Given the description of an element on the screen output the (x, y) to click on. 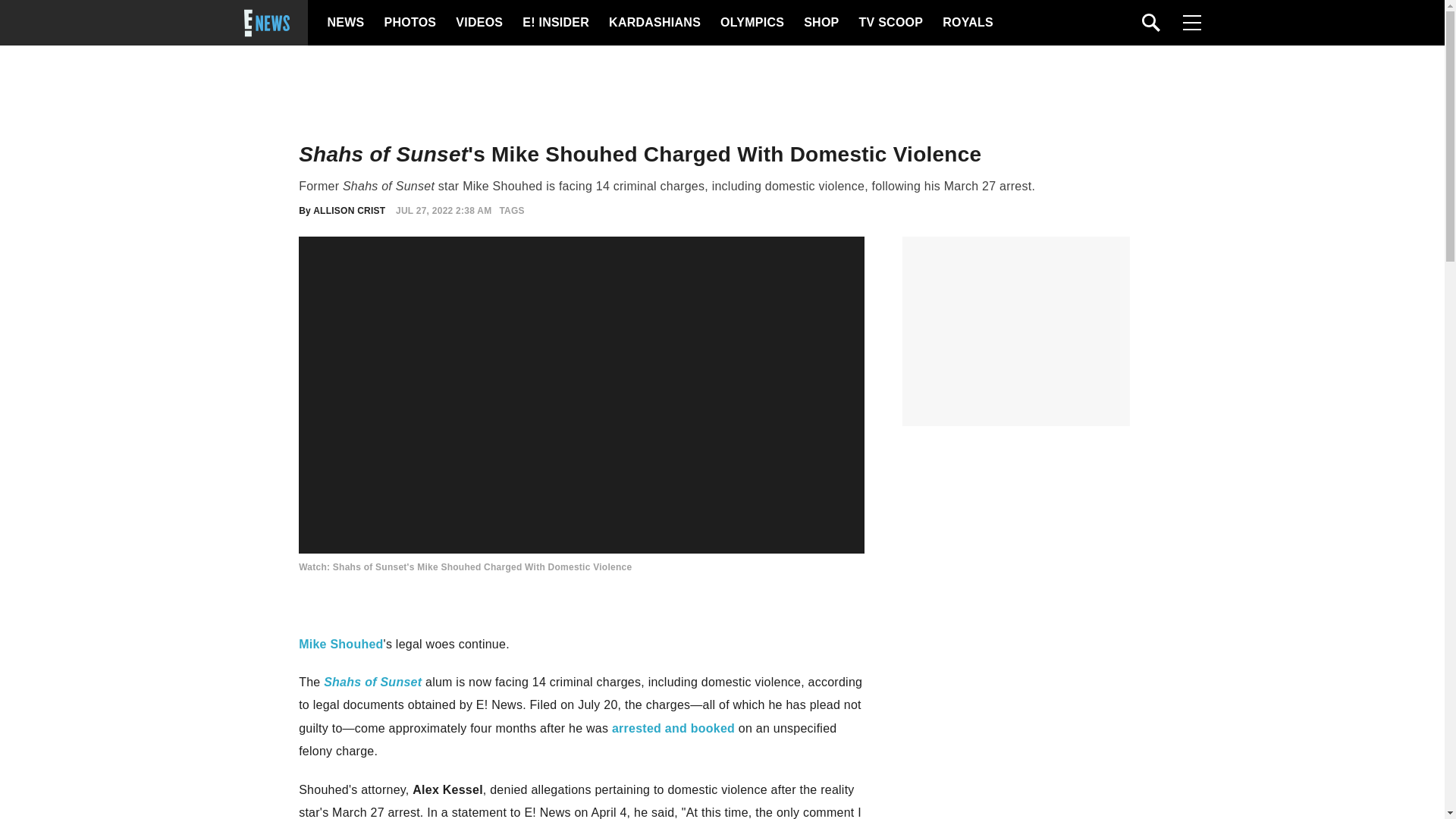
ROYALS (966, 22)
KARDASHIANS (653, 22)
E! INSIDER (555, 22)
SHOP (820, 22)
NEWS (345, 22)
ALLISON CRIST (349, 210)
PHOTOS (408, 22)
Shahs of Sunset (372, 681)
Mike Shouhed (340, 644)
OLYMPICS (751, 22)
arrested and booked (673, 727)
TV SCOOP (890, 22)
VIDEOS (478, 22)
